Given the description of an element on the screen output the (x, y) to click on. 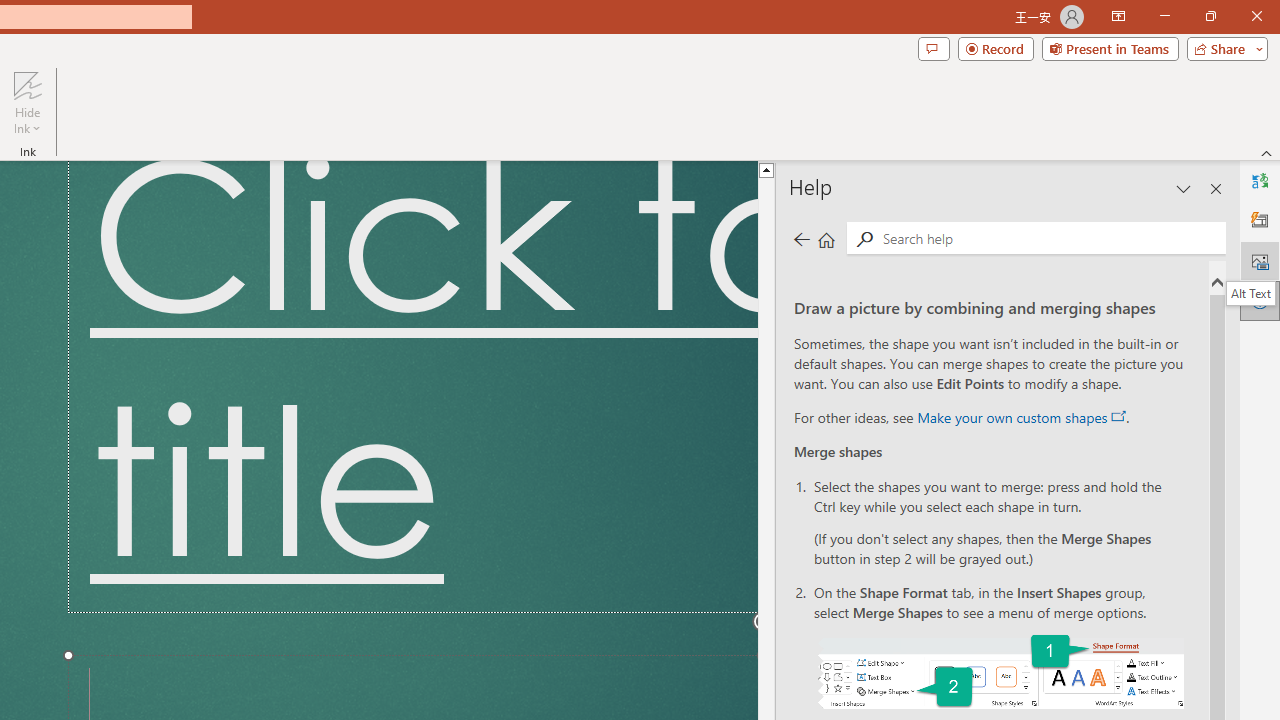
Translator (1260, 180)
Minimize (1164, 16)
Hide Ink (27, 84)
Record (995, 48)
Search (864, 238)
Line up (911, 169)
Help (1260, 300)
Hide Ink (27, 102)
On the Shape Format tab, select Merge Shapes. (1000, 671)
Collapse the Ribbon (1267, 152)
Title TextBox (412, 386)
Home (826, 238)
Alt Text (1251, 293)
